Given the description of an element on the screen output the (x, y) to click on. 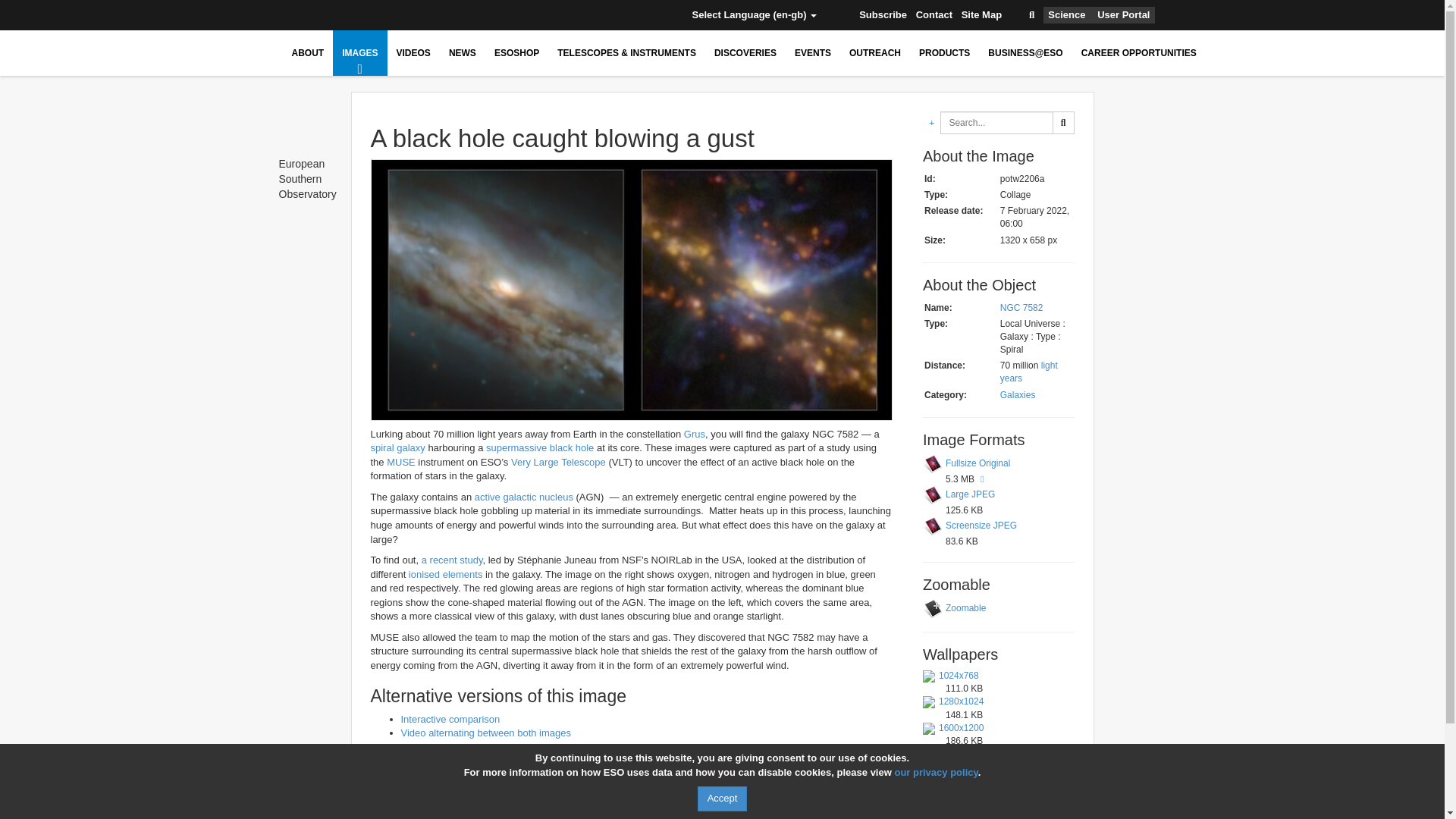
Portugal (547, 15)
Poland (525, 15)
Finland (390, 15)
our privacy policy (934, 772)
Ireland (458, 15)
Austria (298, 15)
France (413, 15)
Italy (481, 15)
Accept (722, 798)
Netherlands (503, 15)
Subscribe (883, 15)
User Portal (1123, 14)
Science (1066, 14)
Belgium (322, 15)
Site Map (981, 15)
